Given the description of an element on the screen output the (x, y) to click on. 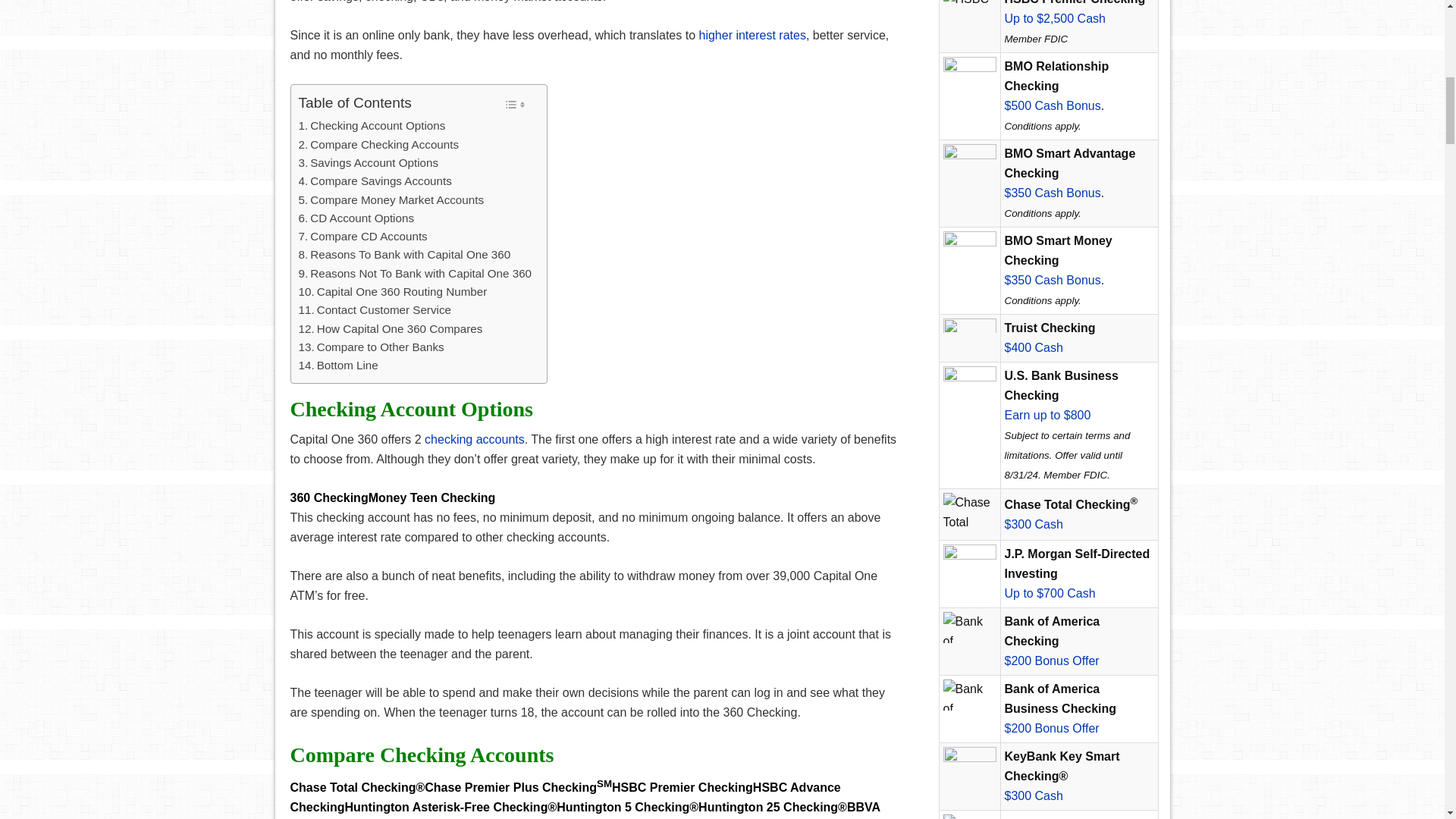
Savings Account Options (368, 162)
Contact Customer Service (374, 310)
Reasons Not To Bank with Capital One 360 (415, 273)
Capital One 360 Routing Number (392, 291)
Compare Savings Accounts (374, 180)
CD Account Options (355, 218)
Compare Checking Accounts (379, 144)
Checking Account Options (371, 126)
Reasons To Bank with Capital One 360 (404, 254)
Compare to Other Banks (371, 347)
